Given the description of an element on the screen output the (x, y) to click on. 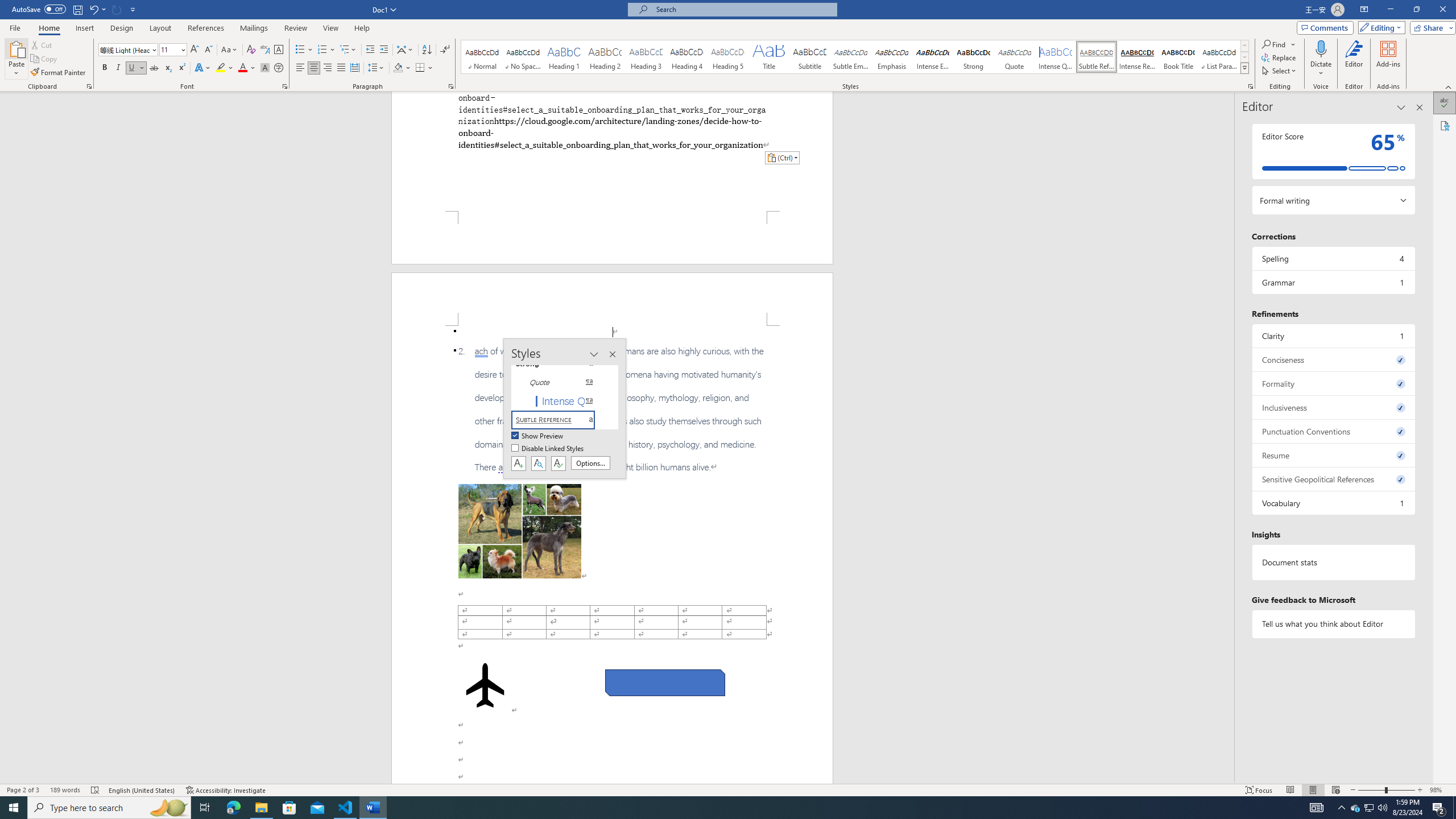
Page 2 content (611, 554)
Conciseness, 0 issues. Press space or enter to review items. (1333, 359)
